Given the description of an element on the screen output the (x, y) to click on. 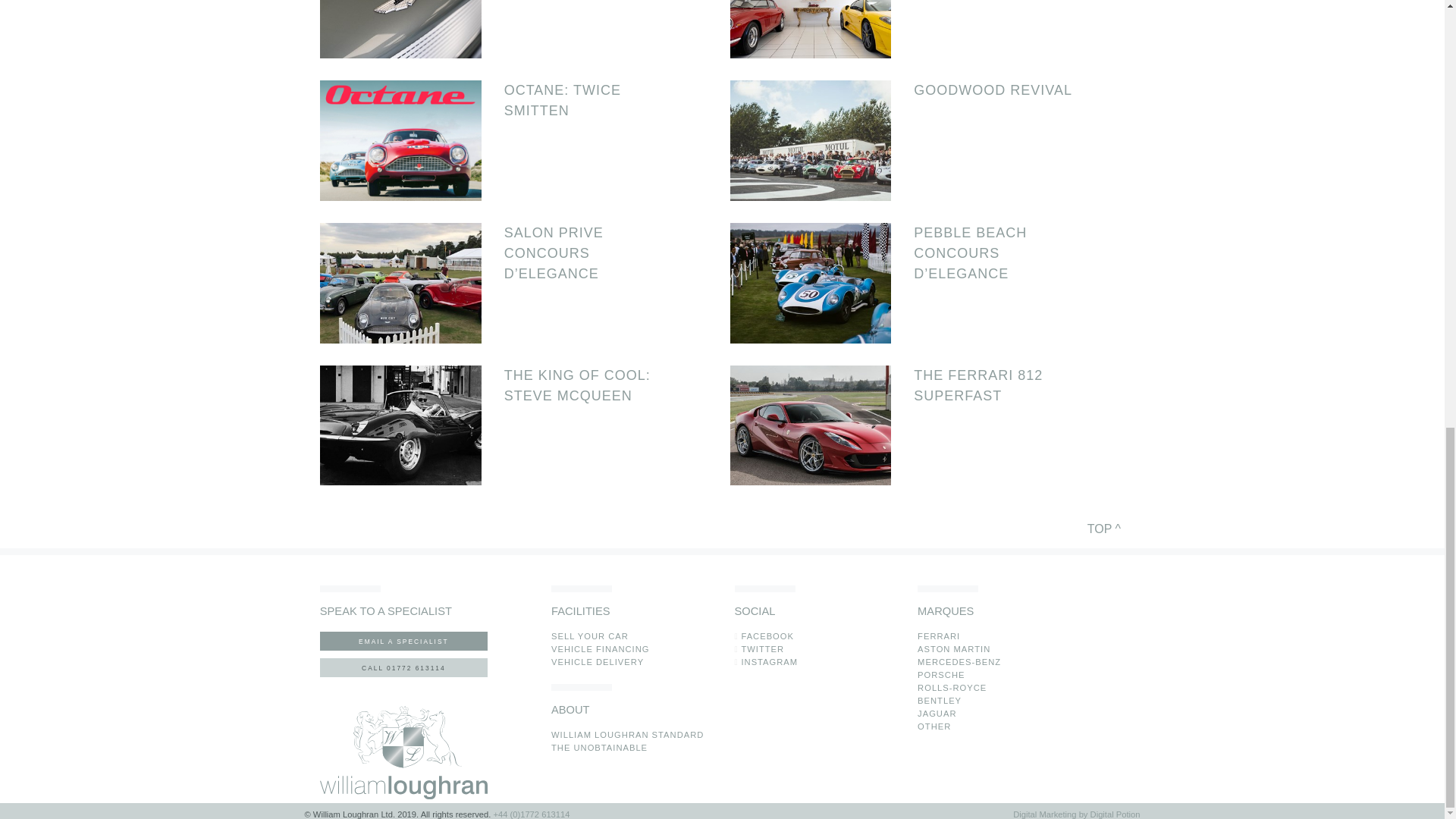
Mercedes (959, 661)
GOODWOOD REVIVAL (1004, 90)
STOCK (627, 734)
Rolls Royce (952, 687)
Aston Martin (953, 648)
OCTANE: TWICE SMITTEN (593, 100)
THE KING OF COOL: STEVE MCQUEEN (593, 385)
Porsche (940, 674)
Other Brands (933, 726)
Ferrari (938, 635)
SELL YOUR CAR (589, 635)
Jaguar (936, 713)
Bentley (938, 700)
STOCK (599, 747)
